Given the description of an element on the screen output the (x, y) to click on. 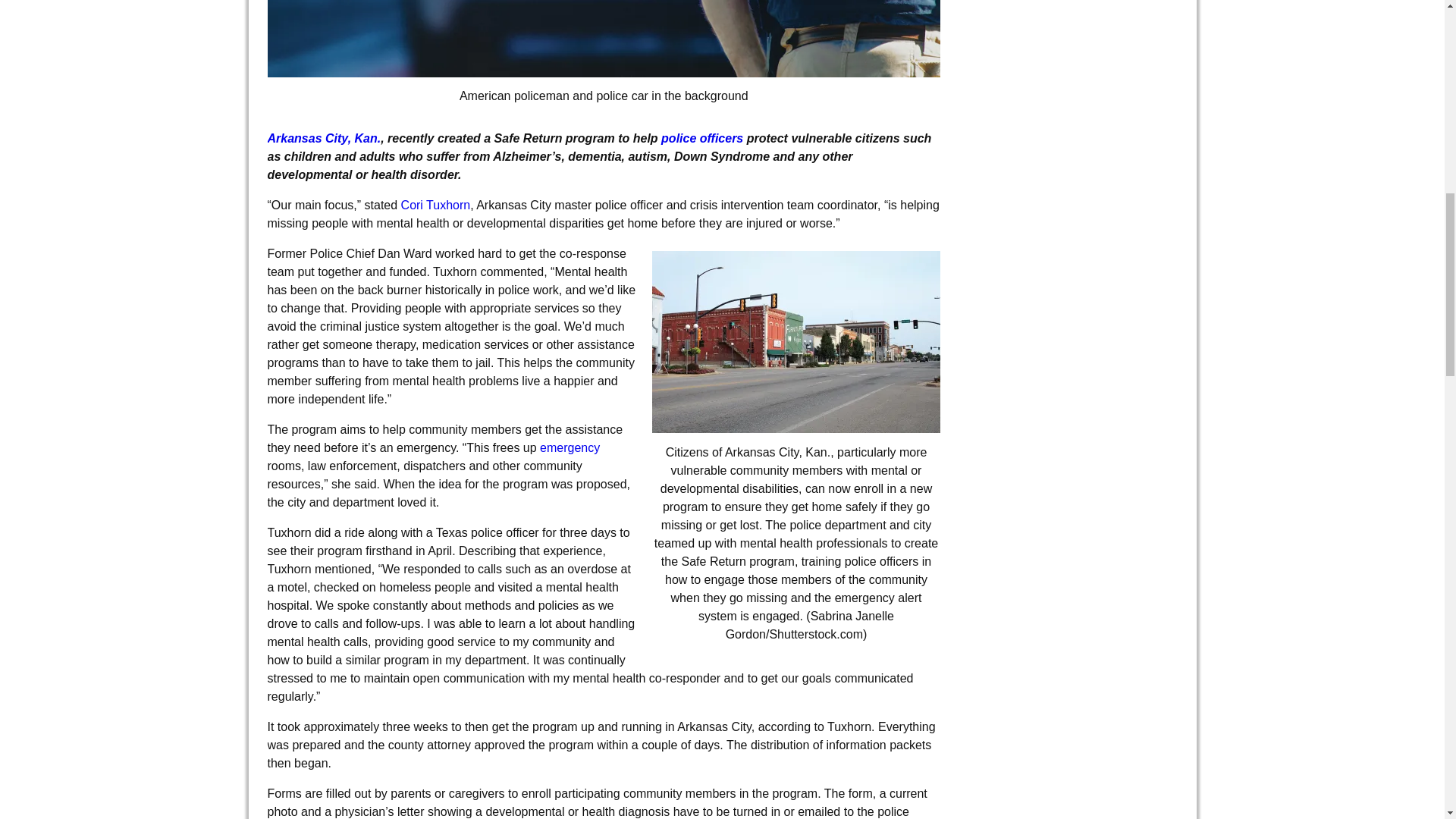
emergency (569, 447)
Arkansas City, Kan. (323, 137)
Cori Tuxhorn (433, 205)
police officers (703, 137)
